Given the description of an element on the screen output the (x, y) to click on. 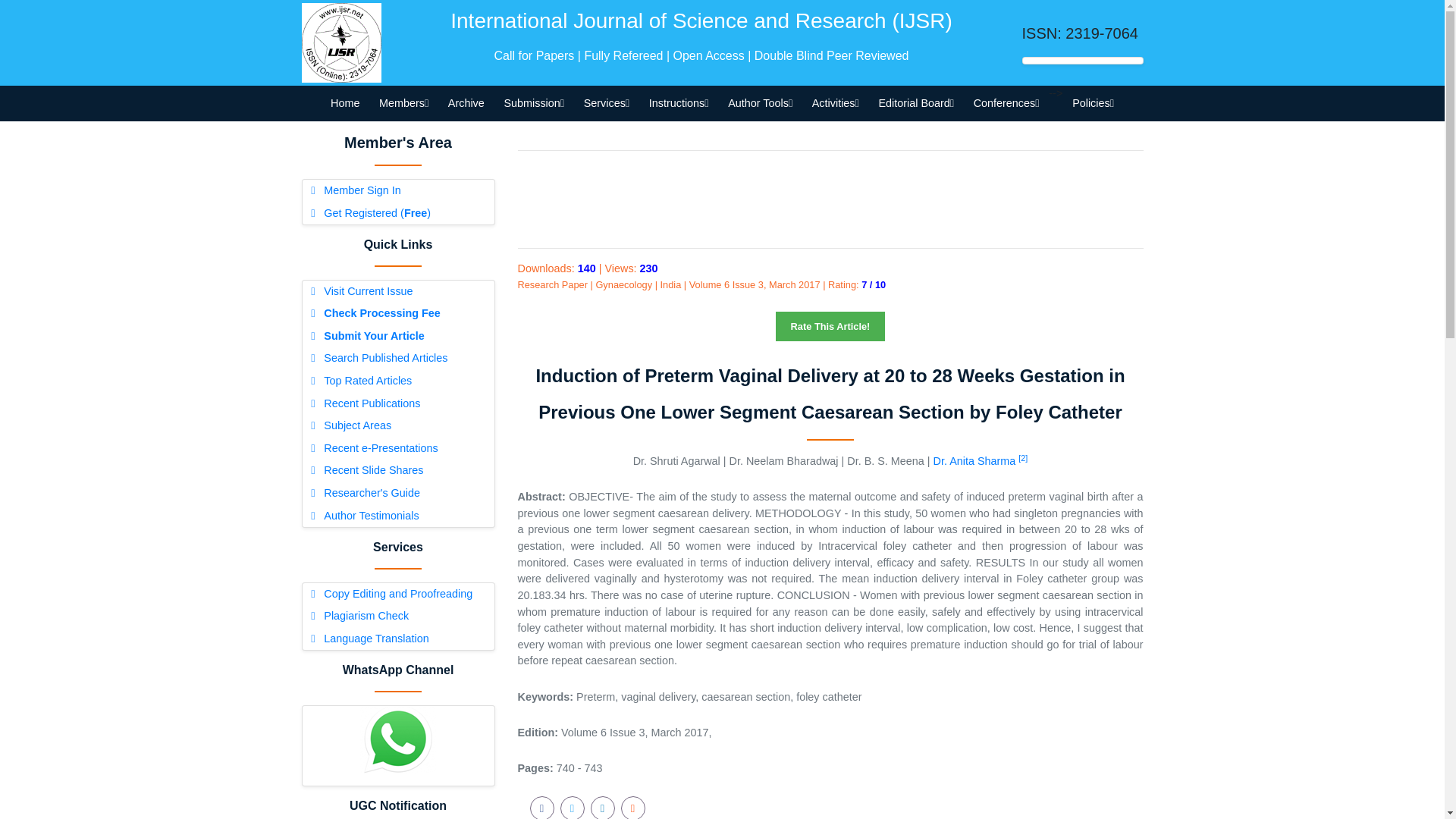
Services (606, 103)
Members (403, 103)
Home (344, 103)
Home (344, 103)
Archive (466, 103)
Submission (534, 103)
Instructions (678, 103)
Activities (835, 103)
Author Tools (759, 103)
Archive (466, 103)
